Given the description of an element on the screen output the (x, y) to click on. 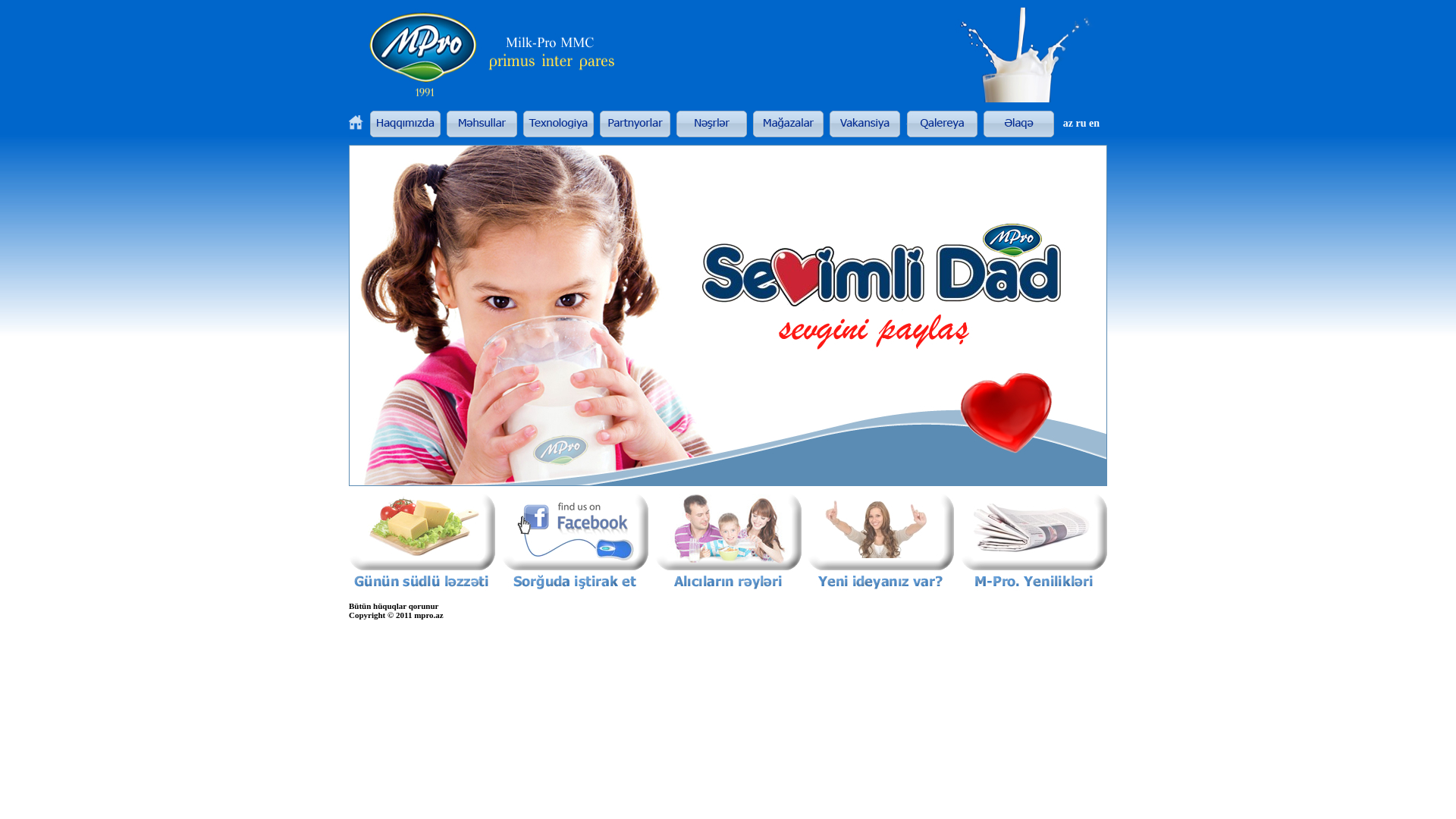
ru Element type: text (1080, 122)
en Element type: text (1093, 122)
az Element type: text (1068, 122)
